Given the description of an element on the screen output the (x, y) to click on. 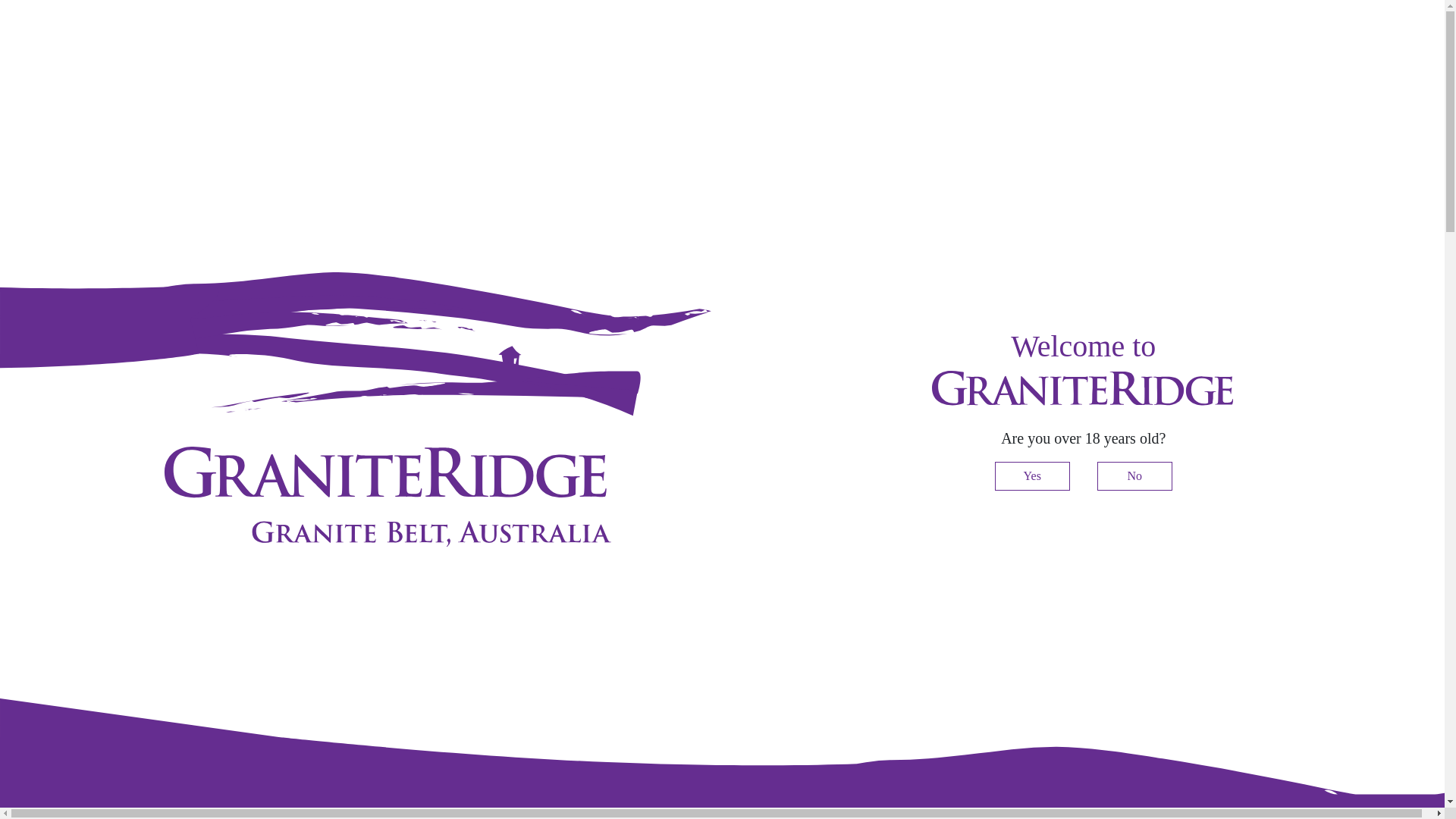
No Element type: text (1134, 475)
Yes Element type: text (1032, 475)
